Given the description of an element on the screen output the (x, y) to click on. 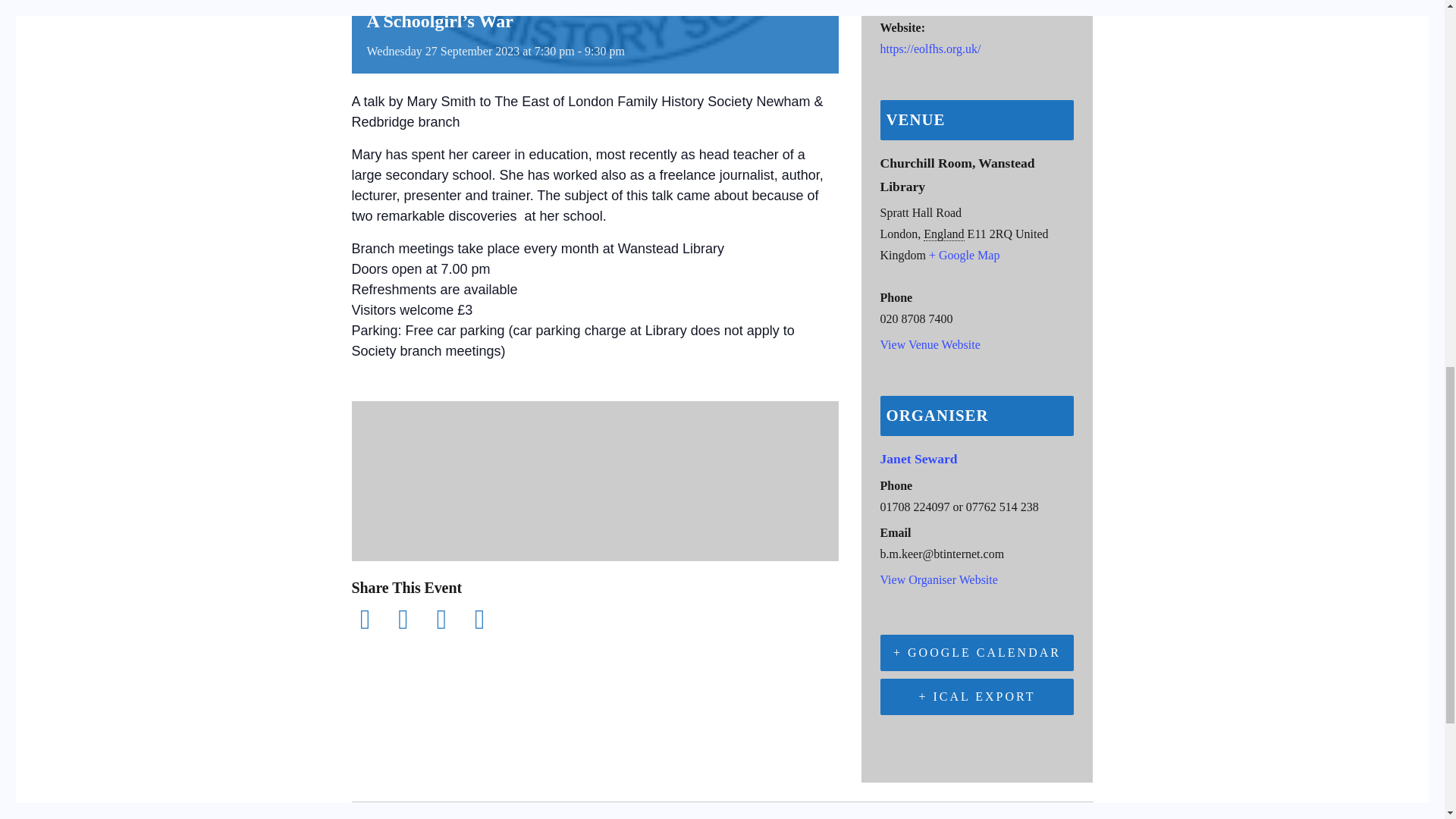
Janet Seward (917, 458)
wansteadlibrary (956, 4)
View Organiser Website (938, 579)
Click to view a Google Map (963, 254)
England (943, 233)
View Venue Website (929, 344)
Janet Seward (917, 458)
Download .ics file (976, 696)
Add to Google Calendar (976, 651)
